Given the description of an element on the screen output the (x, y) to click on. 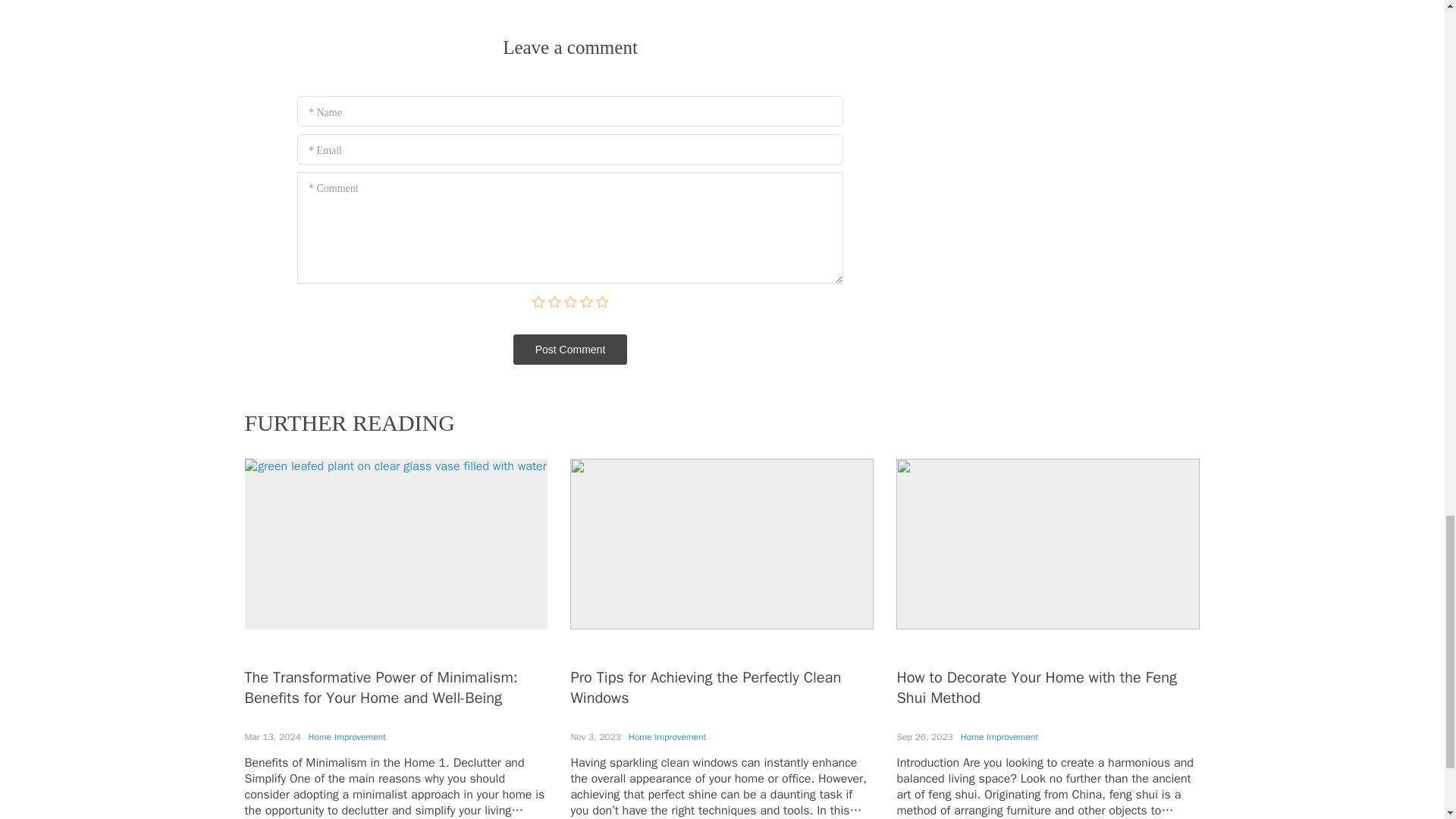
Home Improvement (667, 736)
How to Decorate Your Home with the Feng Shui Method (1036, 687)
Home Improvement (999, 736)
Home Improvement (346, 736)
Pro Tips for Achieving the Perfectly Clean Windows (705, 687)
